Given the description of an element on the screen output the (x, y) to click on. 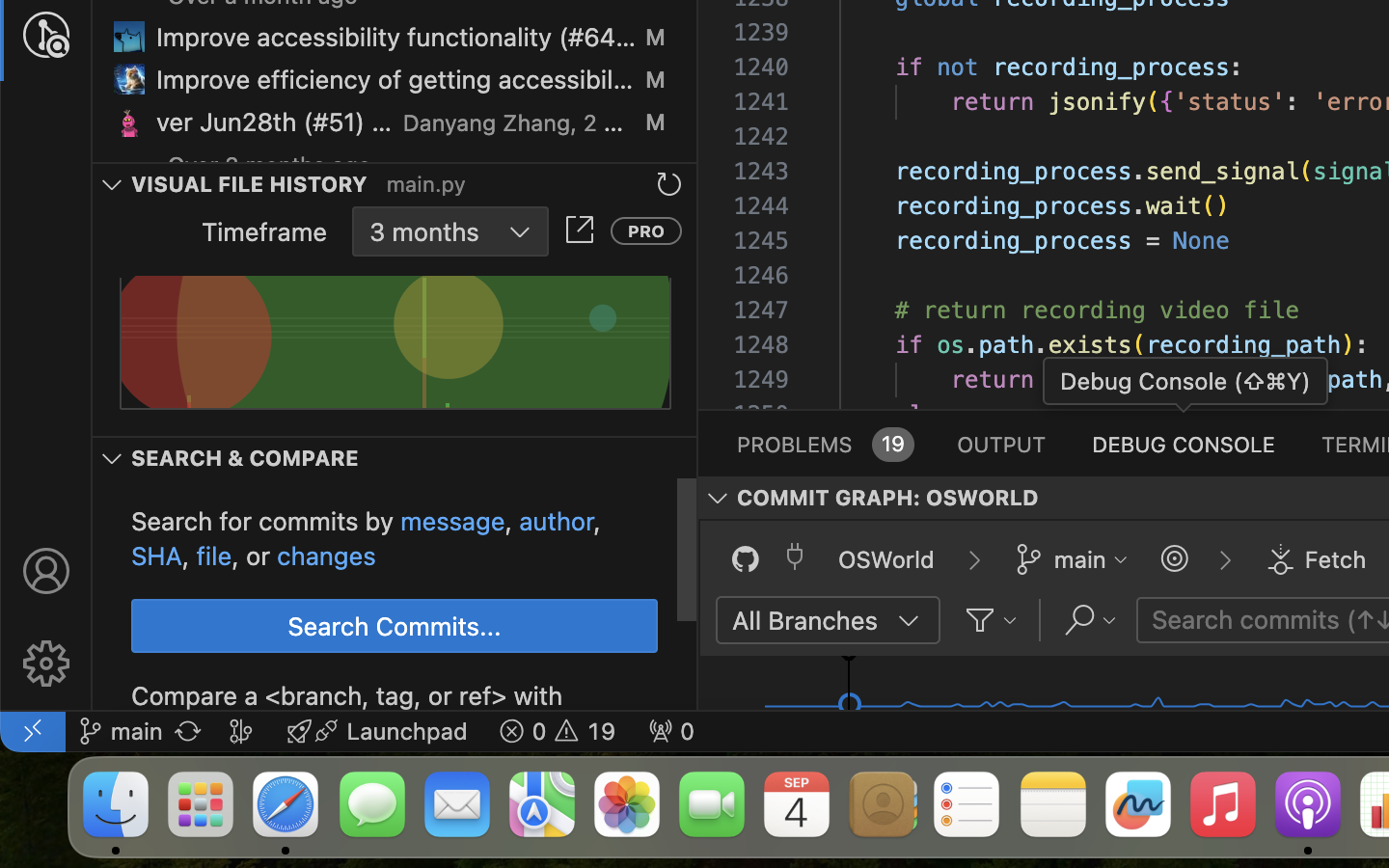
Fetch Element type: AXStaticText (1335, 558)
All Branches Element type: AXComboBox (805, 619)
 Element type: AXButton (669, 184)
Improve accessibility functionality (#64) … Element type: AXStaticText (396, 37)
 Element type: AXStaticText (908, 620)
